Given the description of an element on the screen output the (x, y) to click on. 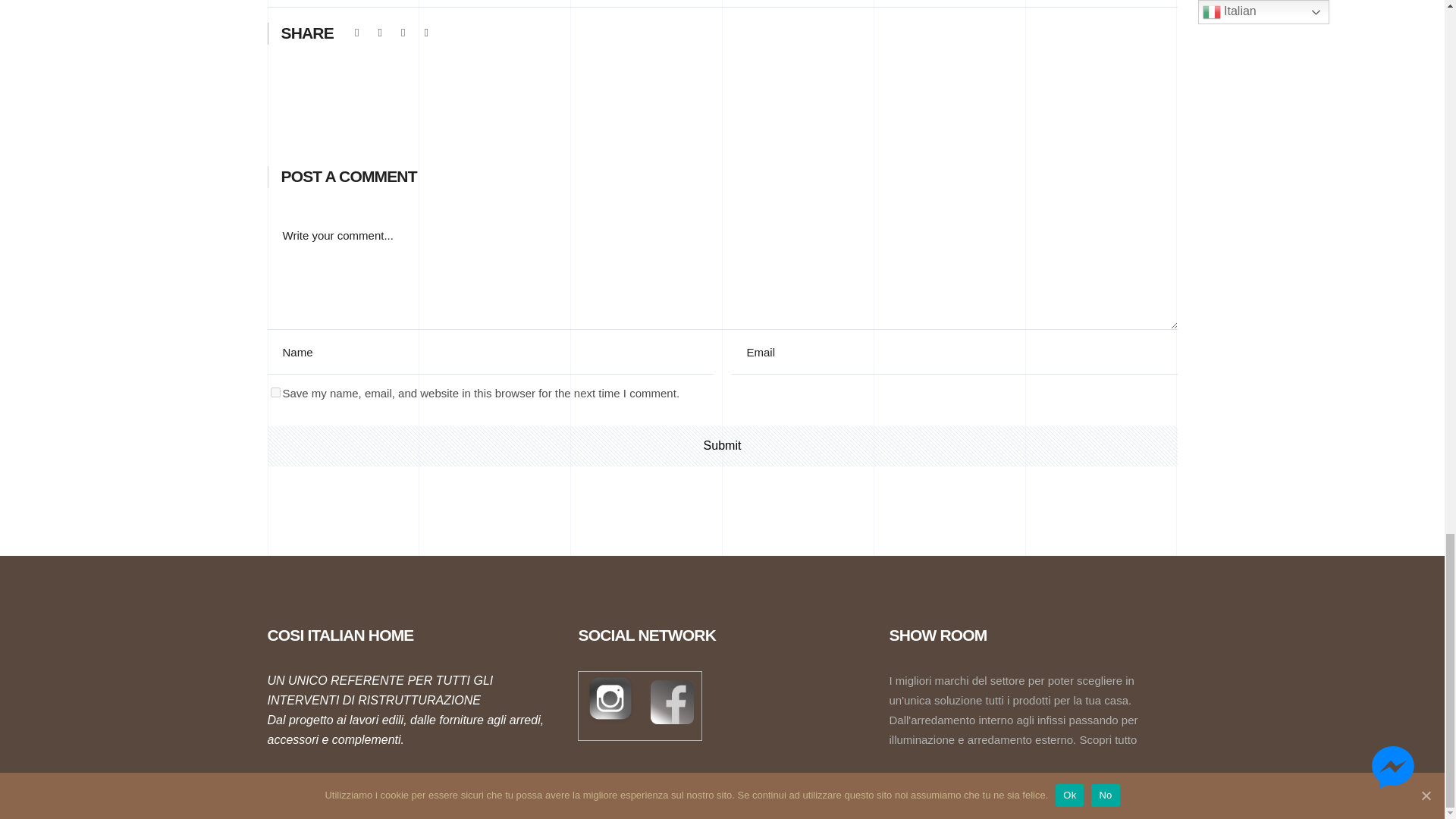
yes (274, 392)
Submit (721, 445)
